Given the description of an element on the screen output the (x, y) to click on. 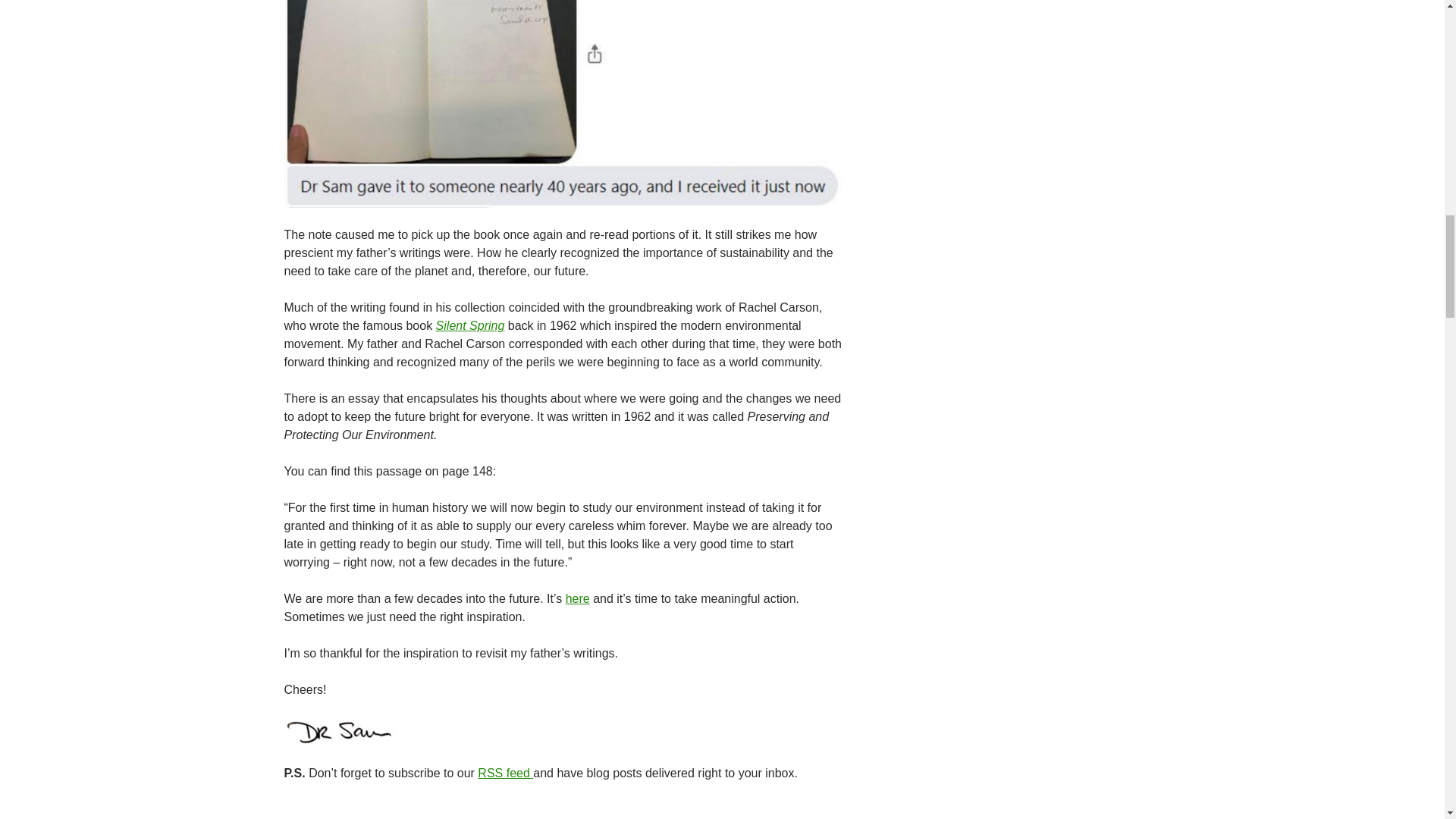
Silent Spring (470, 325)
RSS feed  (504, 772)
here (577, 598)
